Given the description of an element on the screen output the (x, y) to click on. 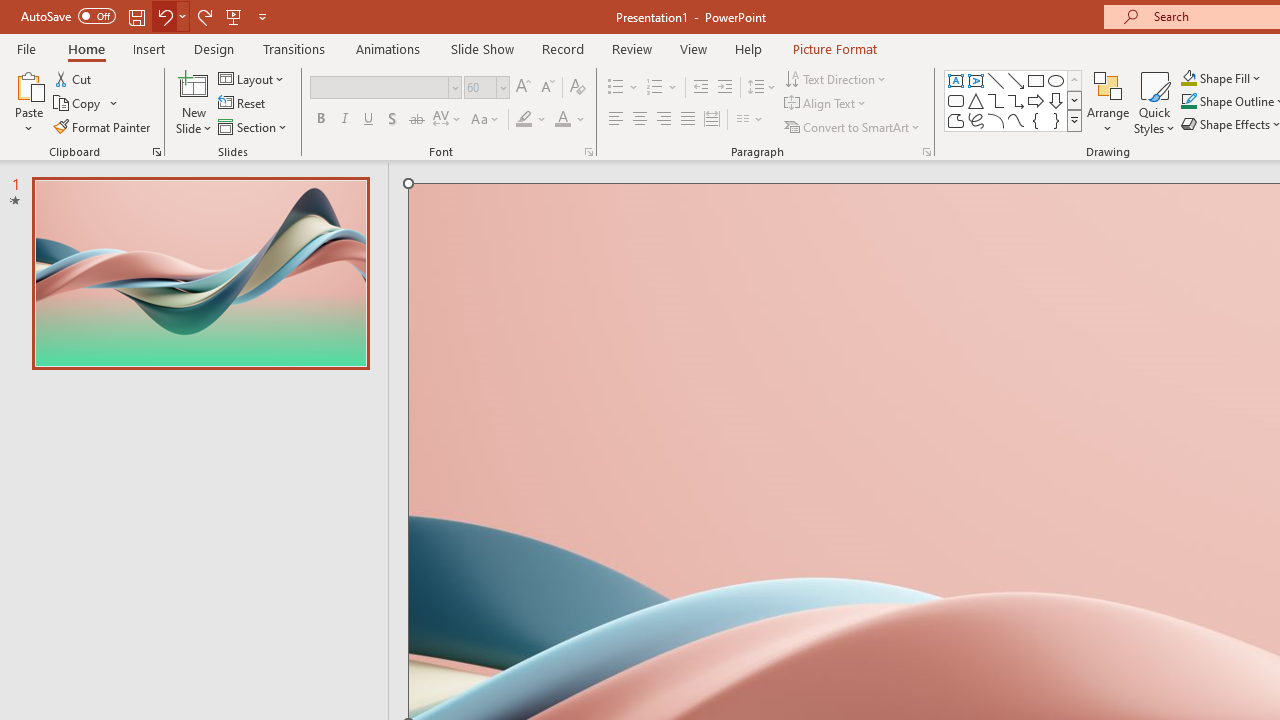
Picture Format (834, 48)
